Given the description of an element on the screen output the (x, y) to click on. 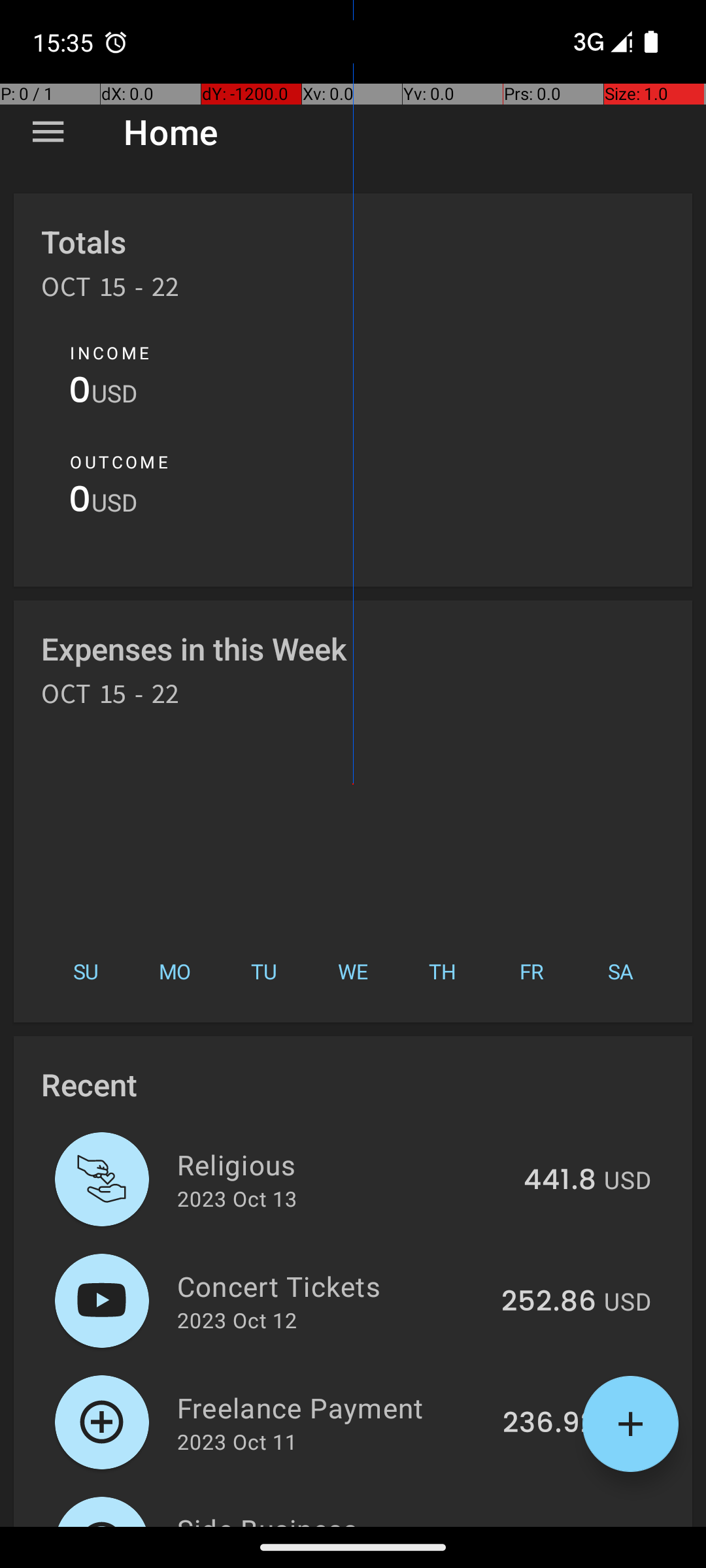
Religious Element type: android.widget.TextView (342, 1164)
441.8 Element type: android.widget.TextView (559, 1180)
Concert Tickets Element type: android.widget.TextView (331, 1285)
252.86 Element type: android.widget.TextView (548, 1301)
236.92 Element type: android.widget.TextView (549, 1423)
Side Business Element type: android.widget.TextView (330, 1518)
452.05 Element type: android.widget.TextView (547, 1524)
